Given the description of an element on the screen output the (x, y) to click on. 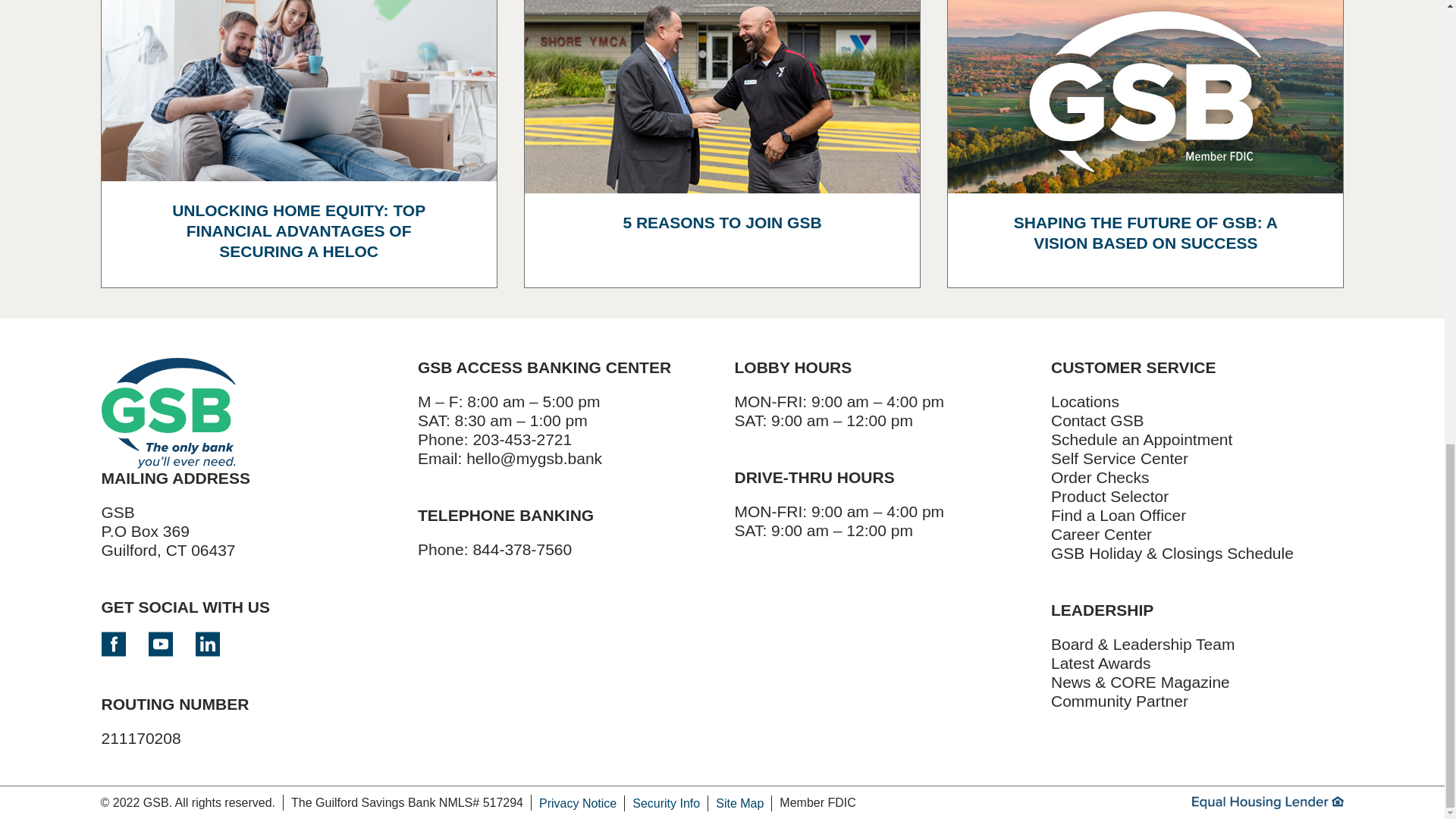
LinkedIn (207, 643)
Facebook (113, 643)
YouTube (160, 643)
